Given the description of an element on the screen output the (x, y) to click on. 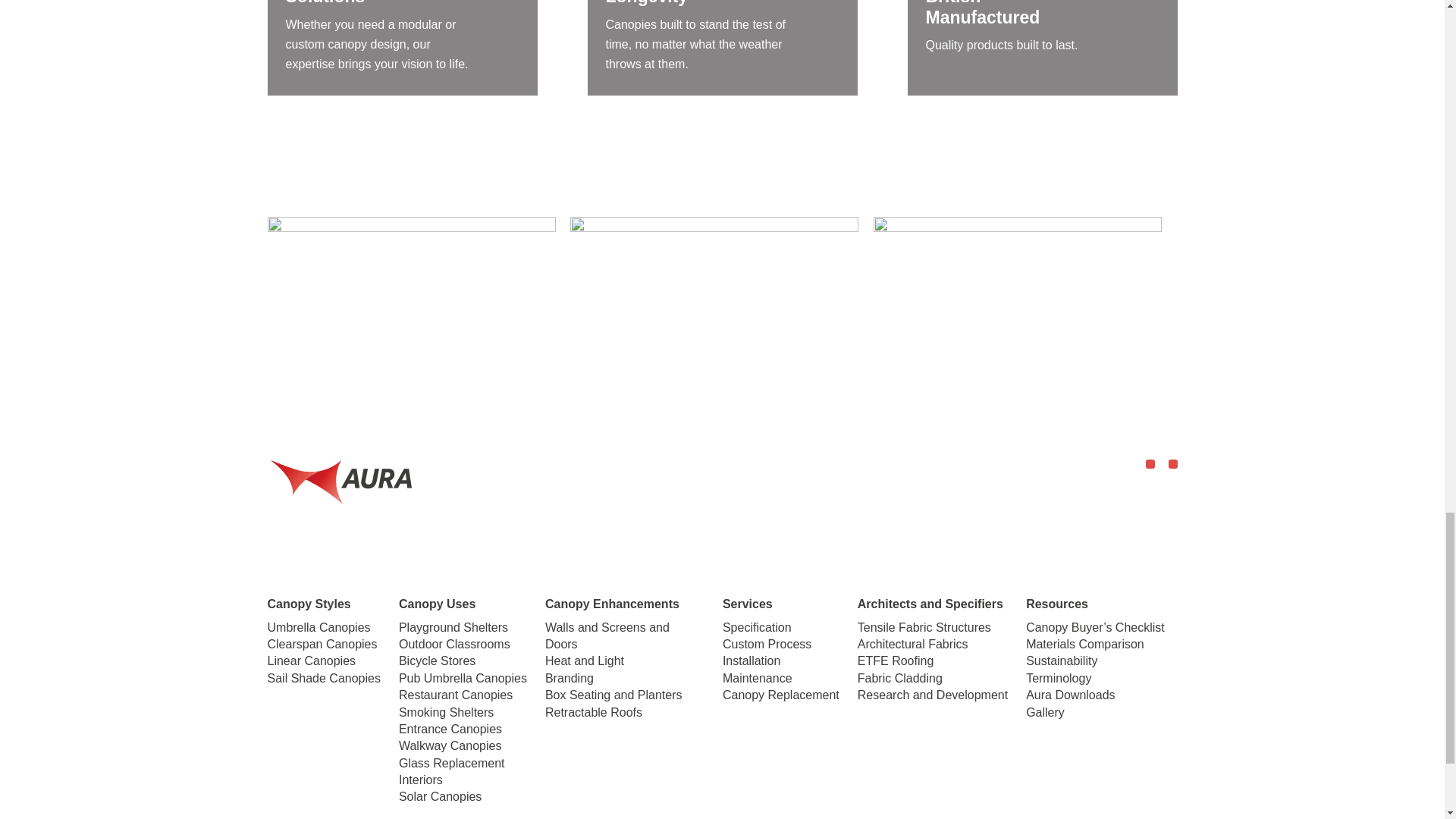
CHAS logo (410, 292)
Constructionline logo (714, 292)
Safe Contractor logo (1017, 292)
